Given the description of an element on the screen output the (x, y) to click on. 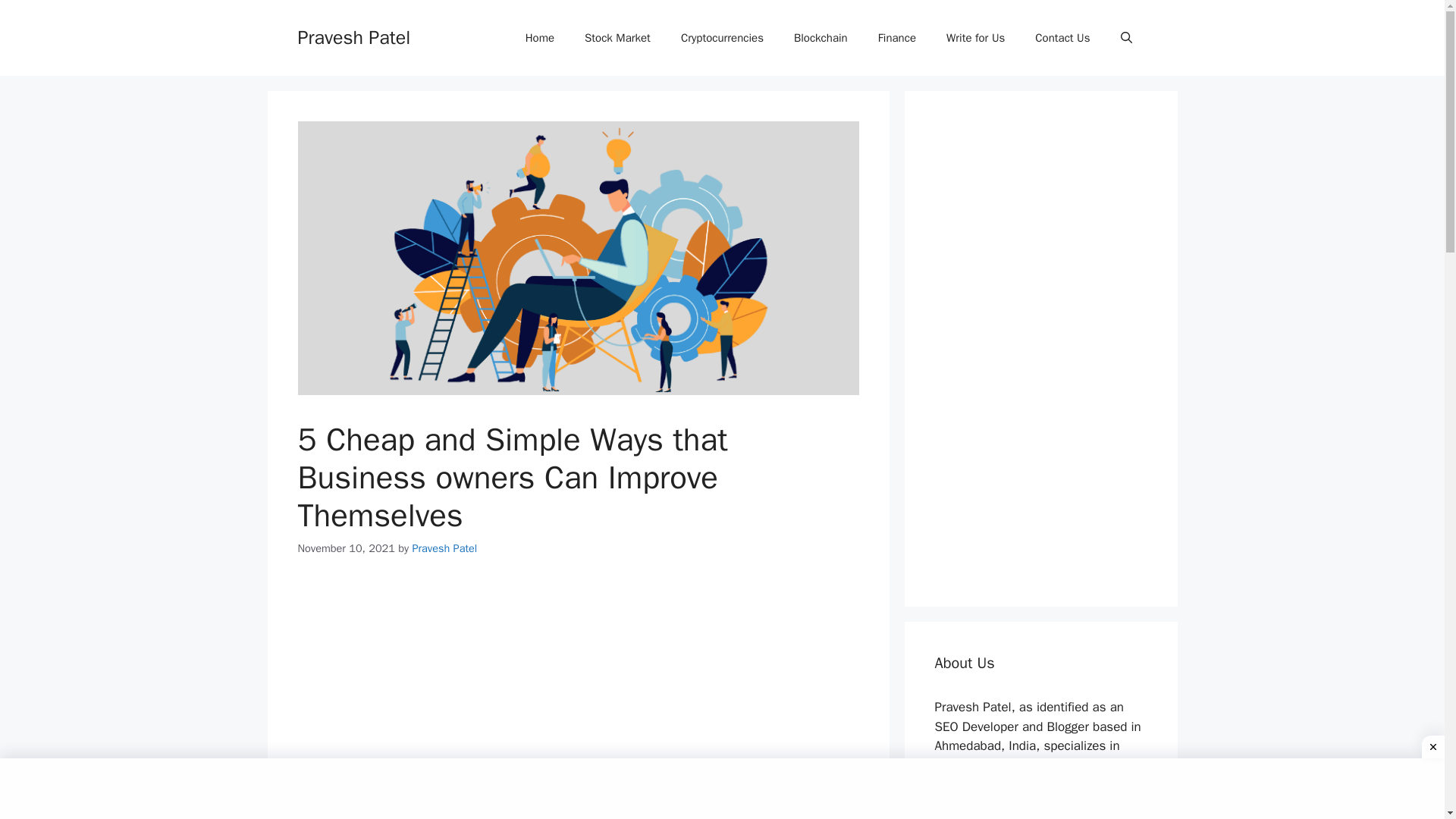
Finance (897, 37)
Contact Us (1062, 37)
Write for Us (975, 37)
Pravesh Patel (444, 548)
Blockchain (820, 37)
View all posts by Pravesh Patel (444, 548)
Stock Market (617, 37)
Pravesh Patel (353, 37)
Advertisement (578, 689)
Cryptocurrencies (721, 37)
